Given the description of an element on the screen output the (x, y) to click on. 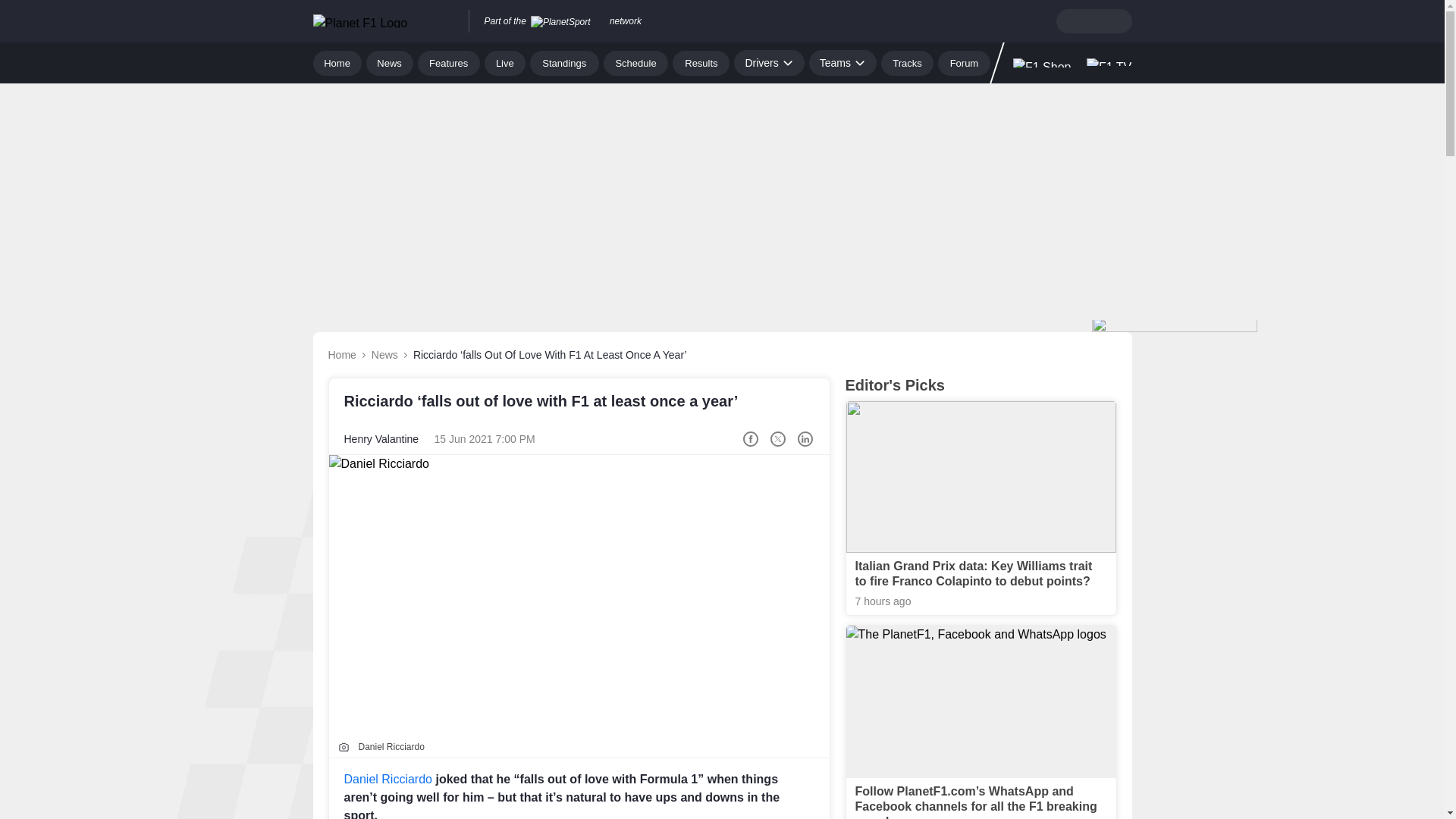
News (389, 62)
Home (337, 62)
Features (448, 62)
Teams (842, 62)
Drivers (768, 62)
Schedule (636, 62)
Live (504, 62)
Results (700, 62)
Standings (563, 62)
